Given the description of an element on the screen output the (x, y) to click on. 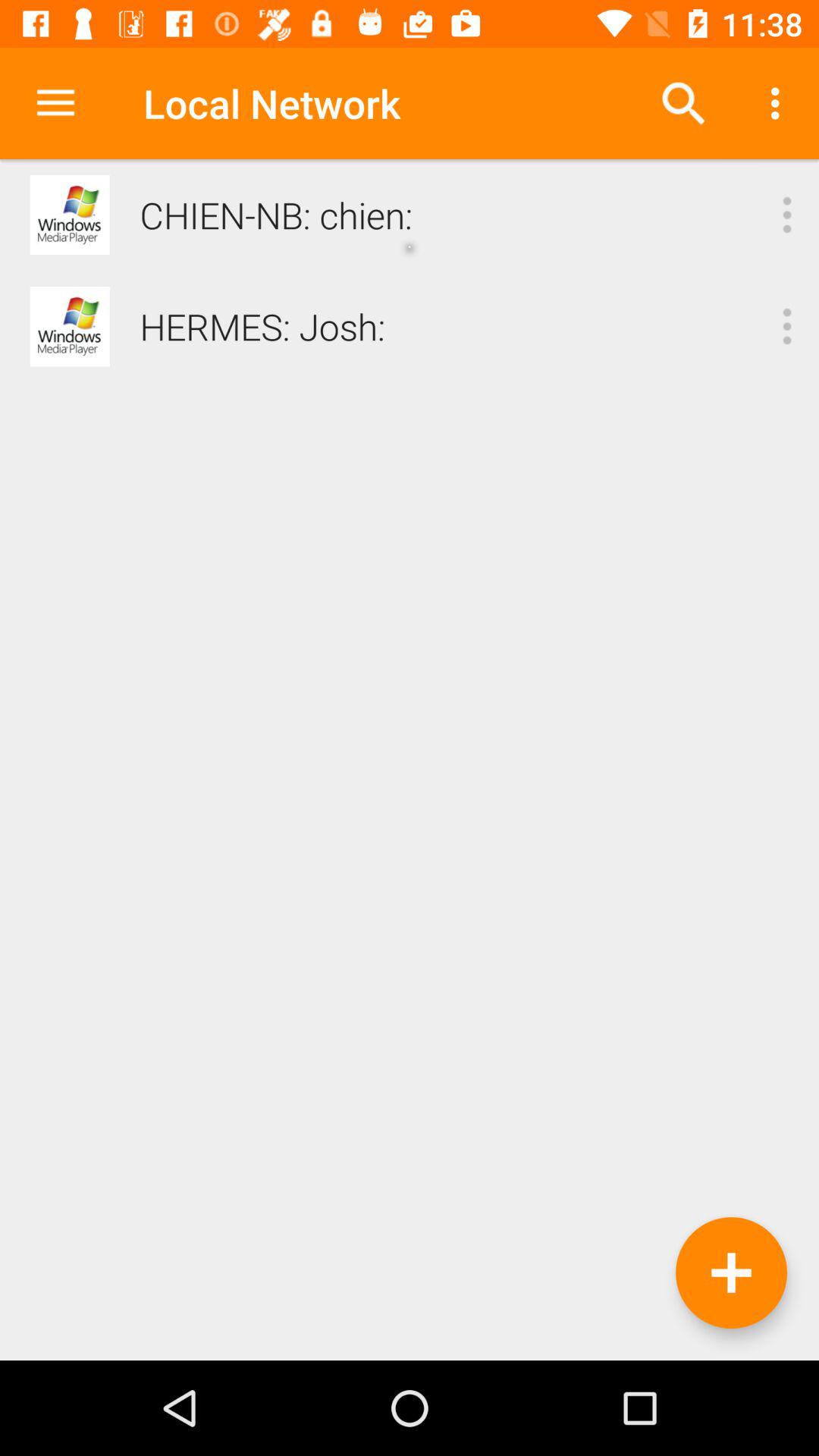
click the options (787, 214)
